Given the description of an element on the screen output the (x, y) to click on. 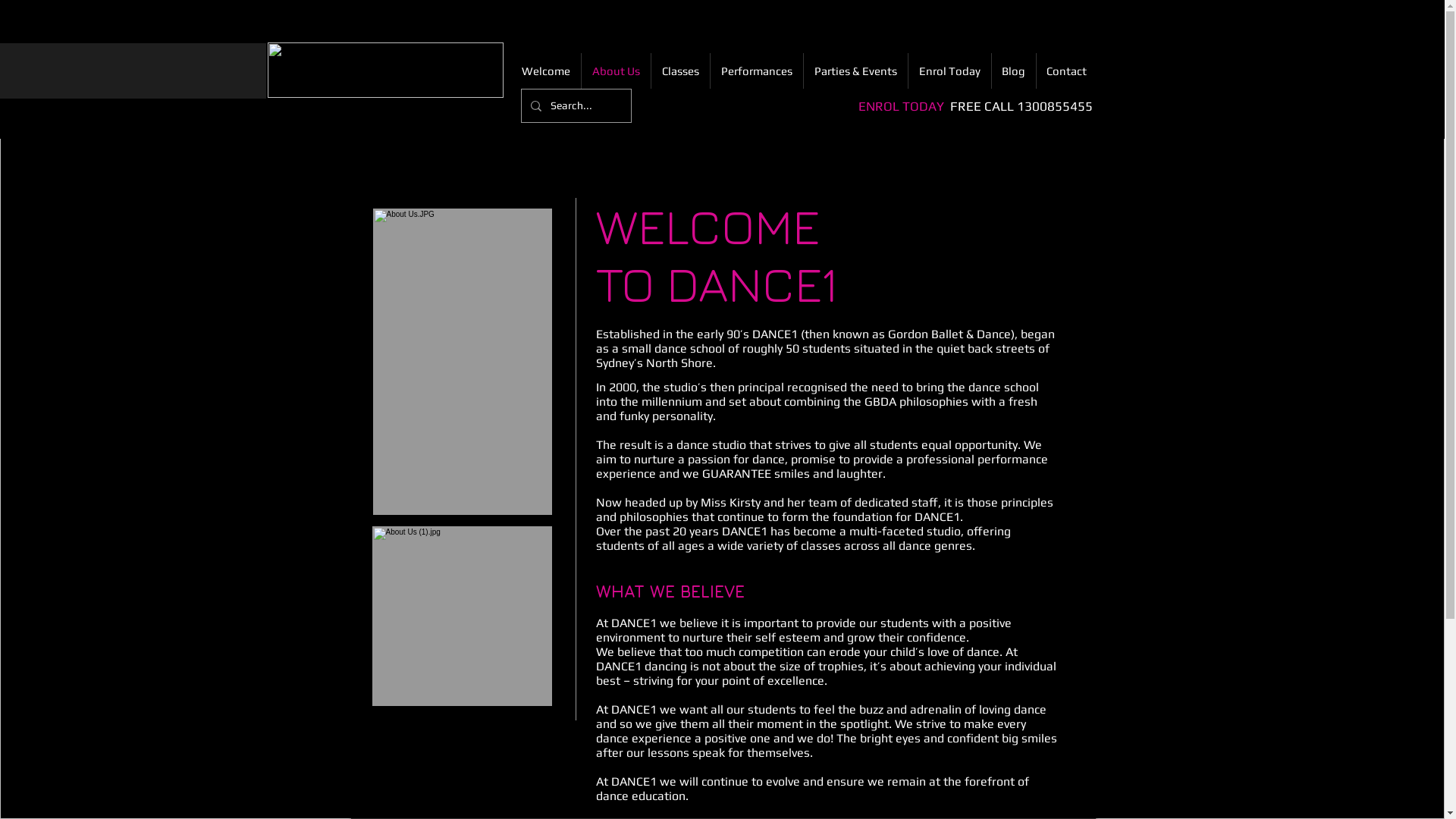
Contact Element type: text (1065, 70)
Leaping Dancer Element type: hover (462, 361)
Classes Element type: text (679, 70)
Enrol Today Element type: text (949, 70)
Welcome Element type: text (545, 70)
About Us Element type: text (614, 70)
Dance Studio Element type: hover (461, 616)
Parties & Events Element type: text (855, 70)
Performances Element type: text (755, 70)
Blog Element type: text (1013, 70)
